Given the description of an element on the screen output the (x, y) to click on. 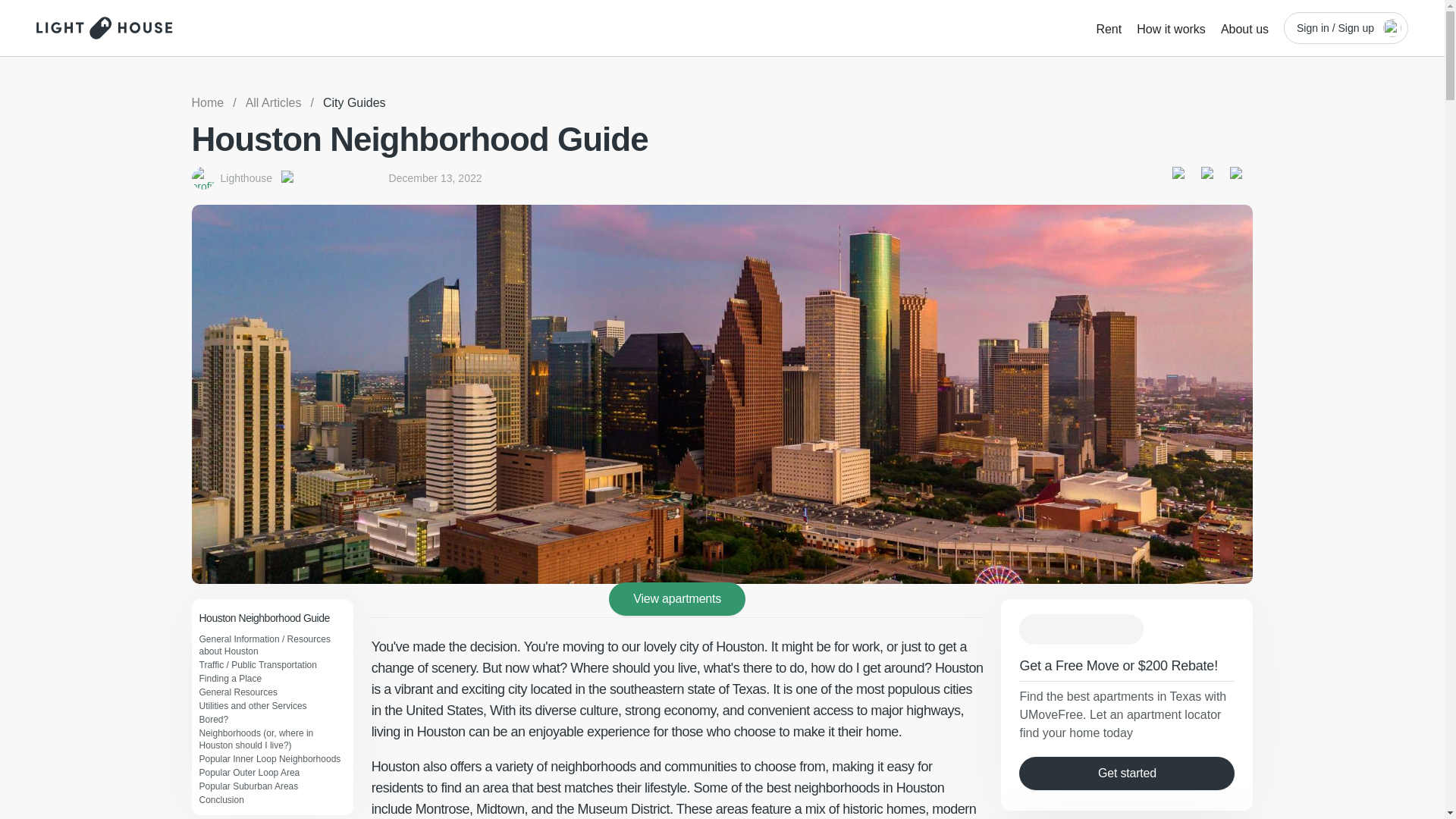
Lighthouse Facebook (1183, 178)
Lighthouse Instagram (1241, 178)
Home (207, 103)
All Articles (273, 103)
City Guides (354, 103)
Rent (1108, 27)
Lighthouse (245, 177)
How it works (1171, 27)
About us (1244, 27)
Lighthouse Twitter (1212, 178)
